Given the description of an element on the screen output the (x, y) to click on. 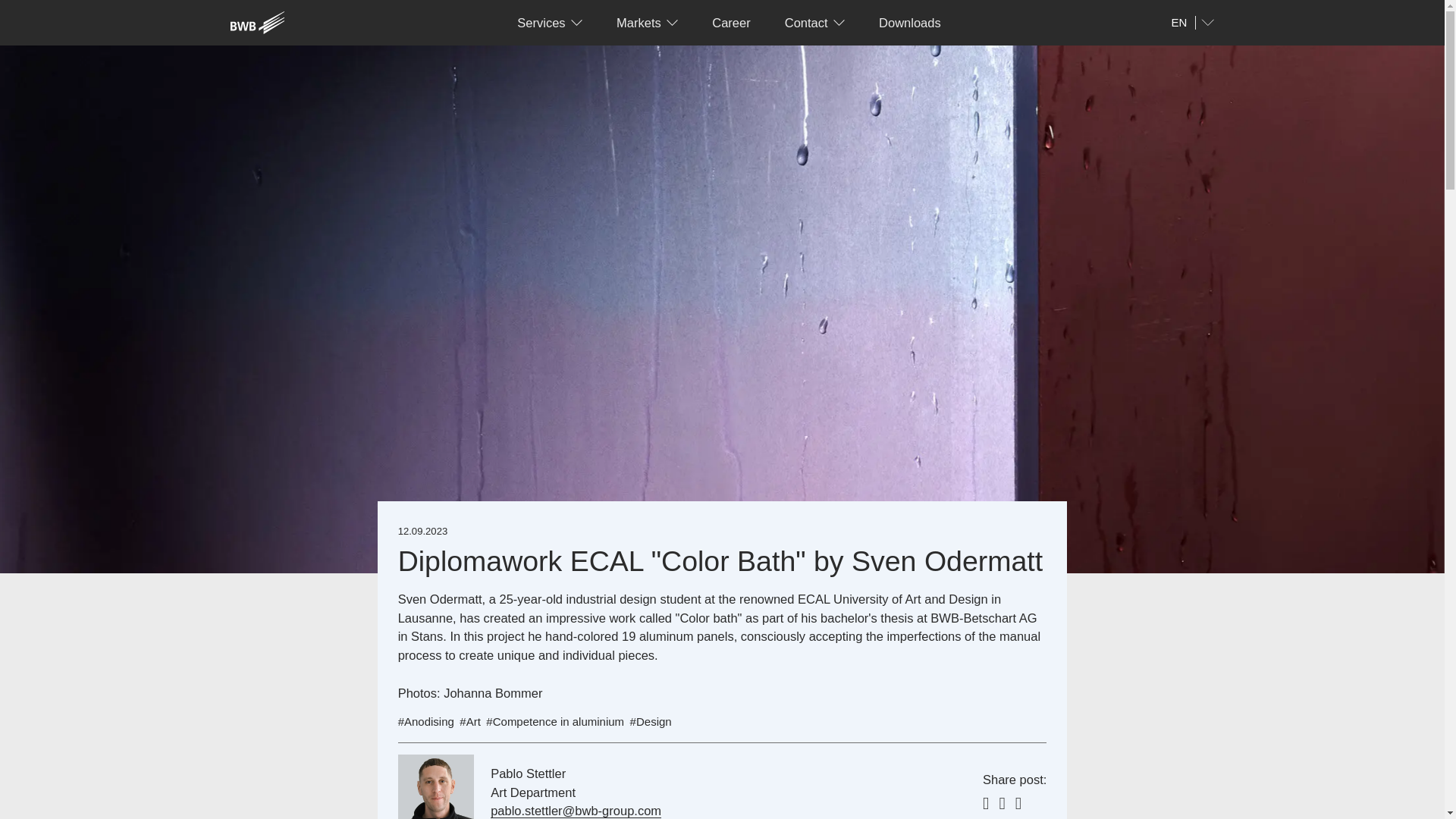
Services (549, 22)
Markets (647, 22)
Markets (647, 22)
Services (549, 22)
Career (731, 22)
Downloads (909, 22)
Contact (814, 22)
